Given the description of an element on the screen output the (x, y) to click on. 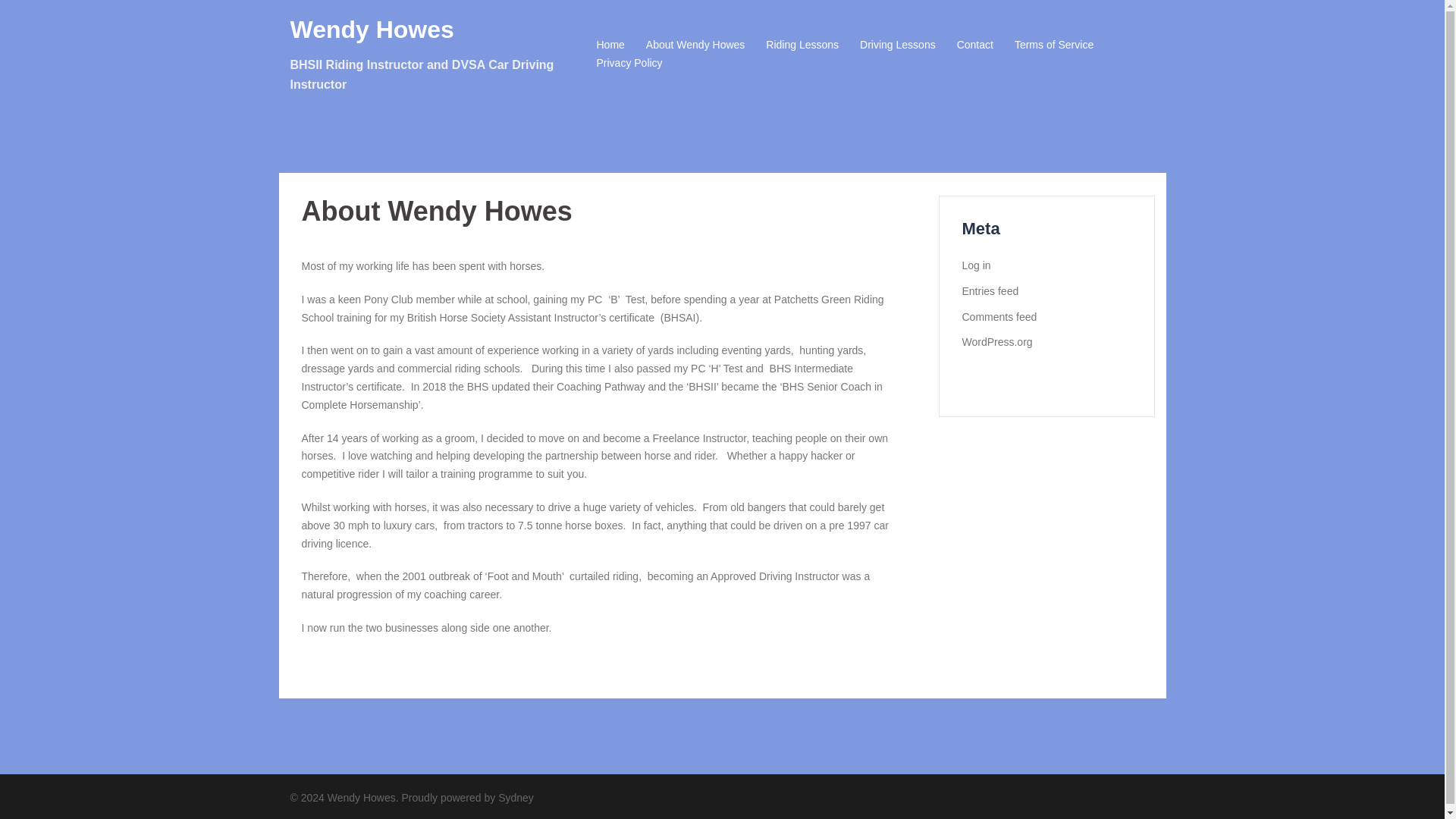
Comments feed (998, 316)
Riding Lessons (801, 45)
Privacy Policy (628, 63)
About Wendy Howes (695, 45)
Log in (975, 265)
Home (609, 45)
WordPress.org (996, 341)
Entries feed (988, 291)
Driving Lessons (898, 45)
Sydney (515, 797)
Contact (974, 45)
Terms of Service (1053, 45)
Wendy Howes (370, 29)
